Given the description of an element on the screen output the (x, y) to click on. 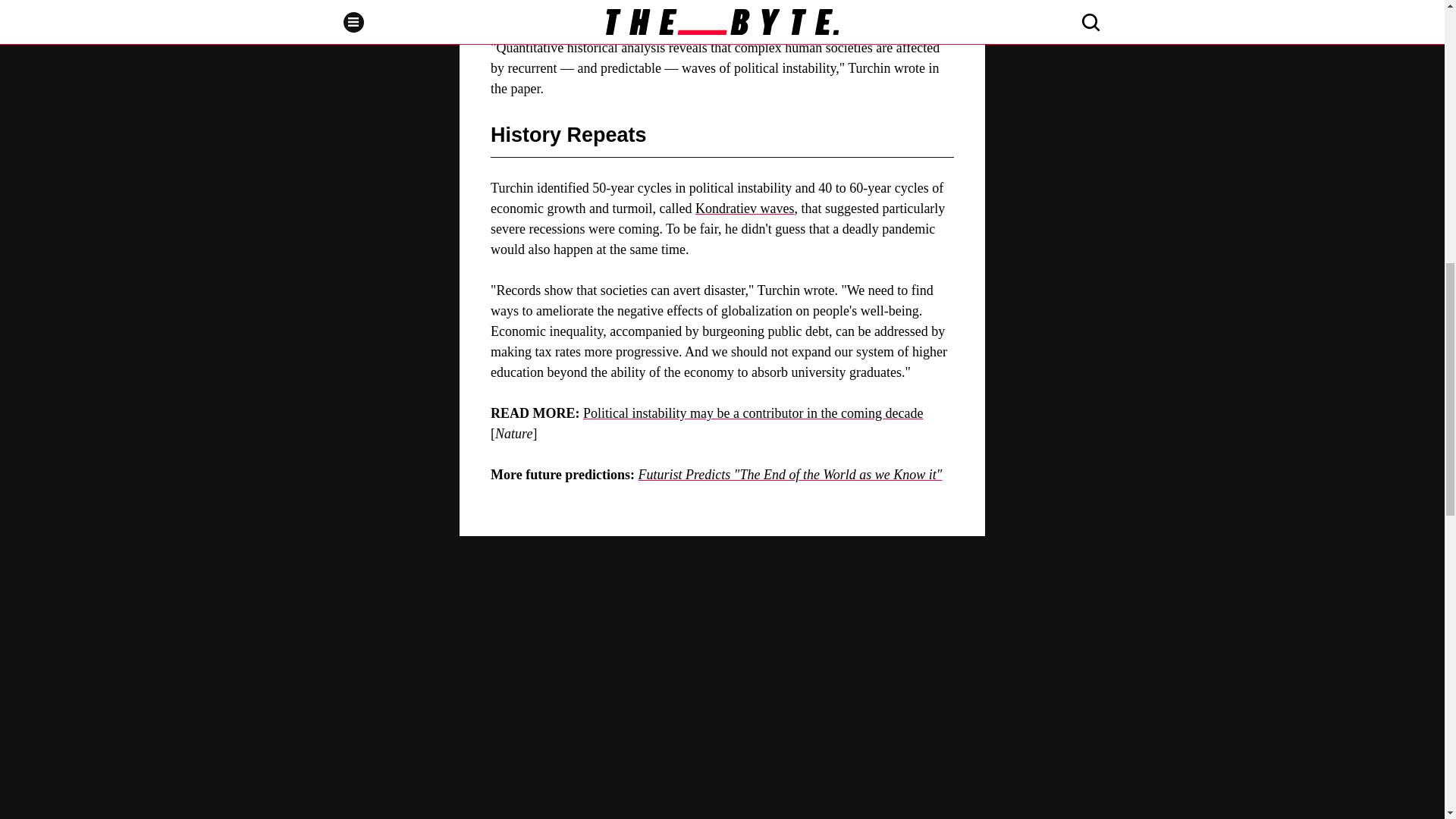
Kondratiev waves (744, 208)
Futurist Predicts "The End of the World as we Know it" (790, 474)
